Given the description of an element on the screen output the (x, y) to click on. 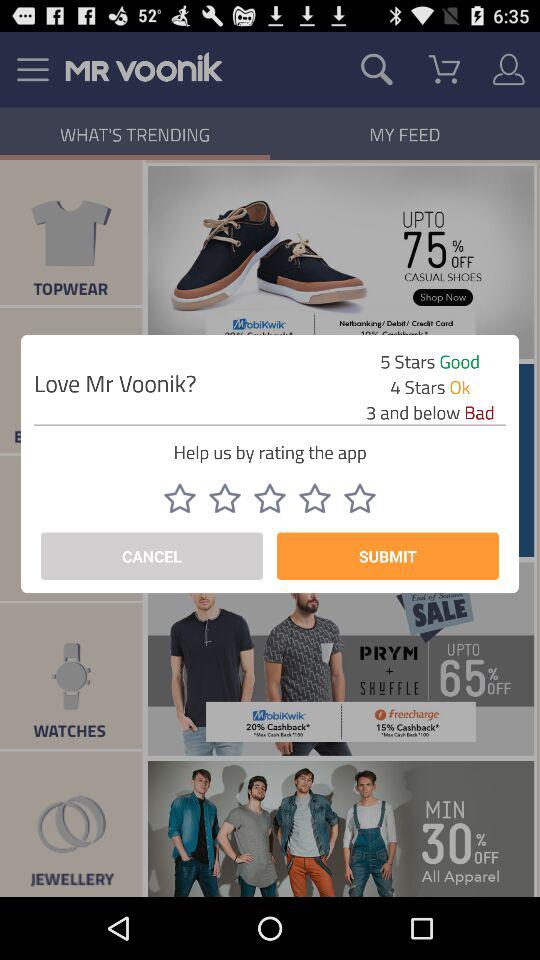
turn on the submit (387, 556)
